Given the description of an element on the screen output the (x, y) to click on. 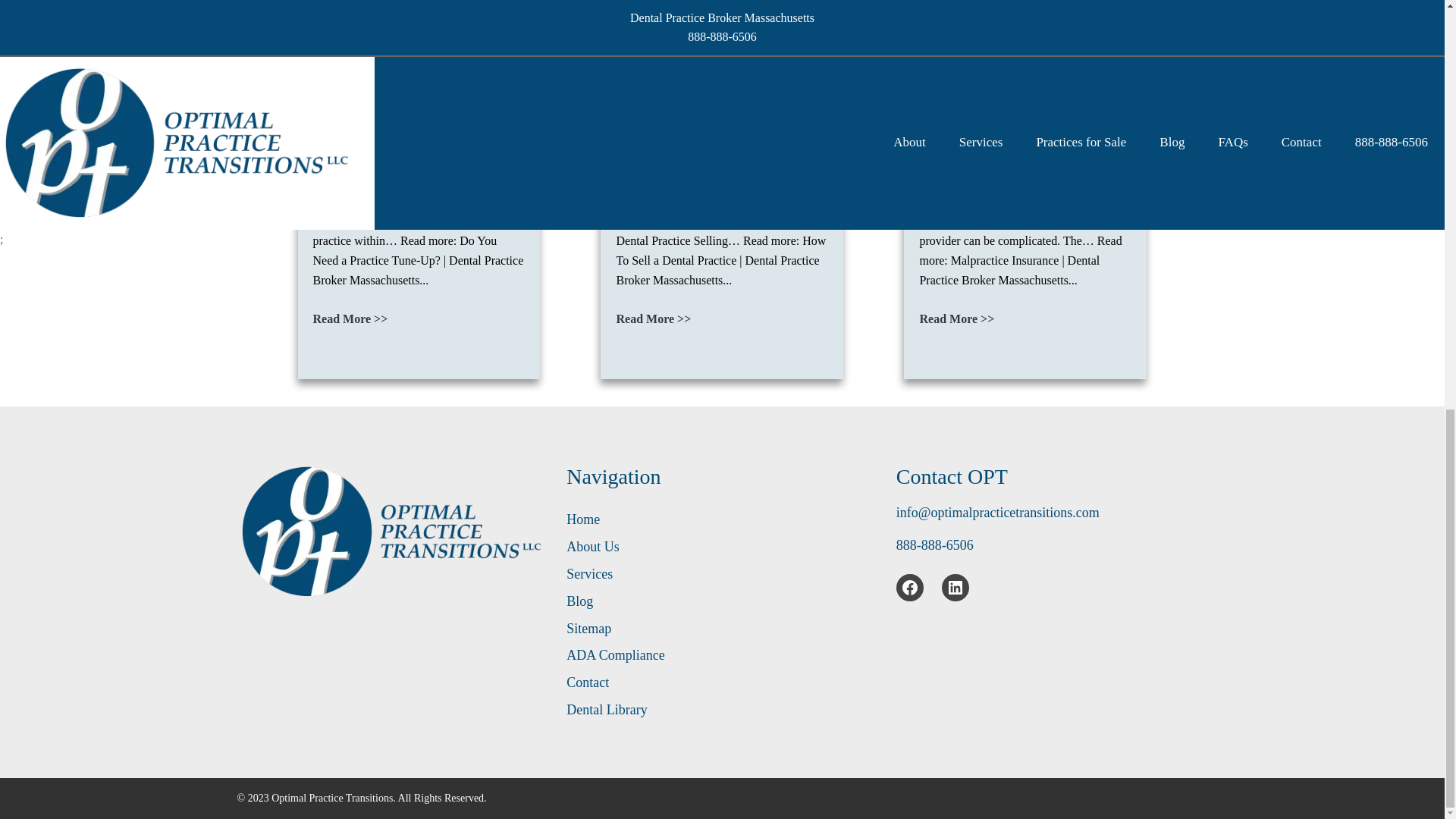
About Us (593, 546)
Home (582, 519)
Services (589, 574)
Blog (579, 601)
ADA Compliance (614, 655)
888-888-6506 (935, 544)
Contact (587, 682)
Facebook (909, 587)
Sitemap (588, 628)
Dental Library (606, 710)
